Given the description of an element on the screen output the (x, y) to click on. 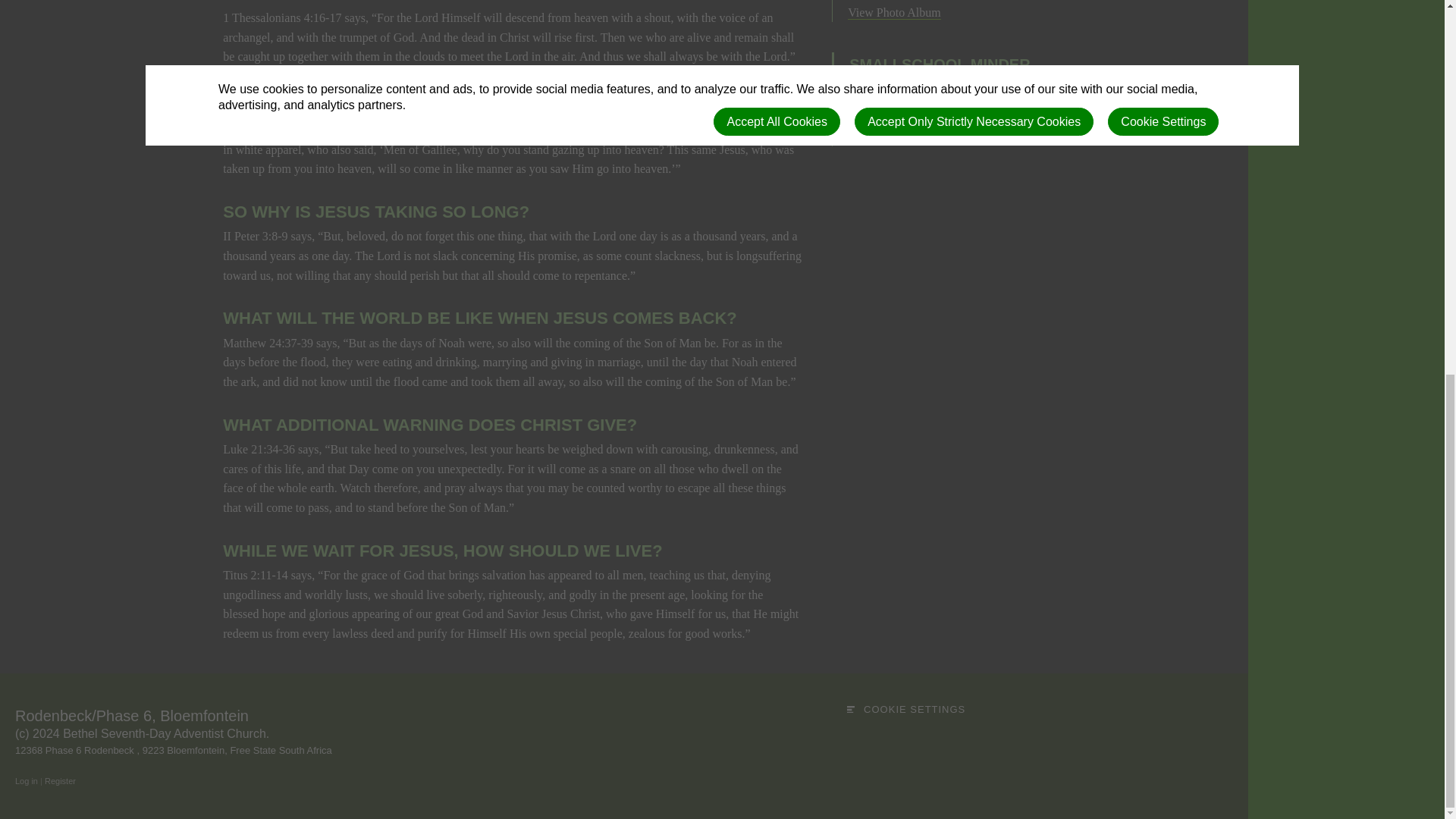
O-CION (850, 709)
